Given the description of an element on the screen output the (x, y) to click on. 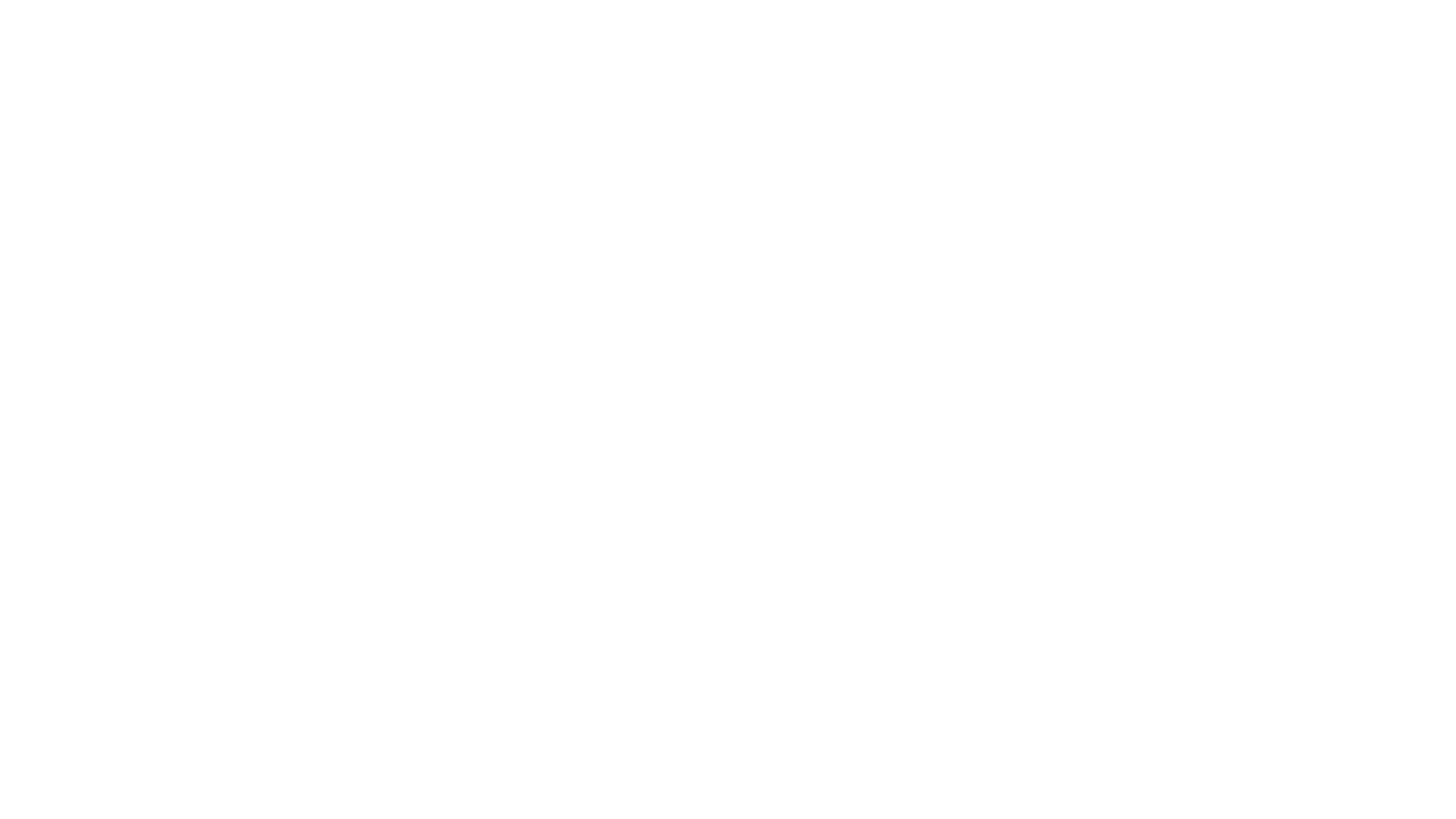
Return to home page now Element type: text (721, 516)
